Given the description of an element on the screen output the (x, y) to click on. 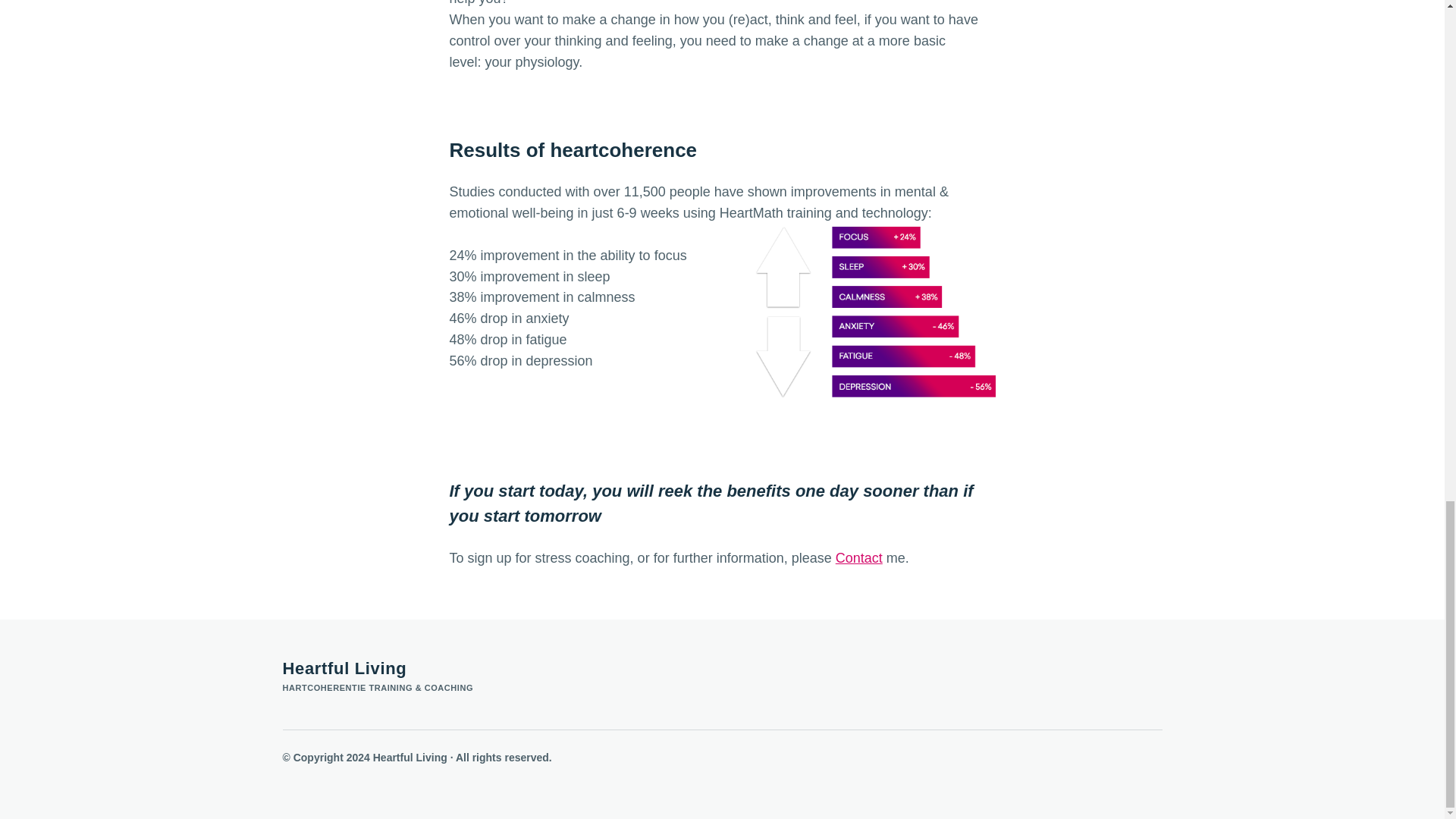
Heart coherence results research (873, 311)
Contact (858, 557)
